Given the description of an element on the screen output the (x, y) to click on. 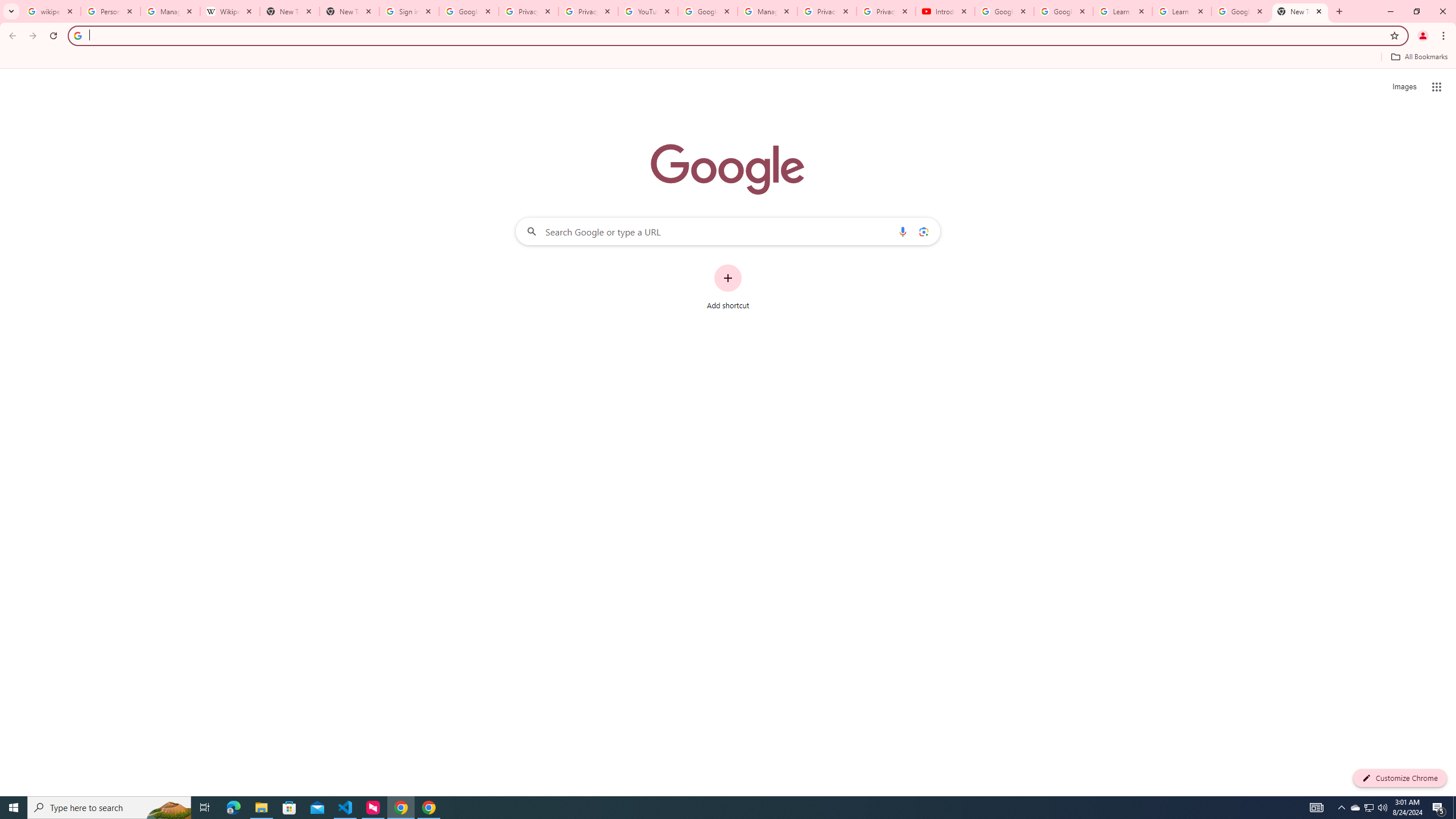
Add shortcut (727, 287)
Customize Chrome (1399, 778)
Bookmarks (728, 58)
Manage your Location History - Google Search Help (170, 11)
